Given the description of an element on the screen output the (x, y) to click on. 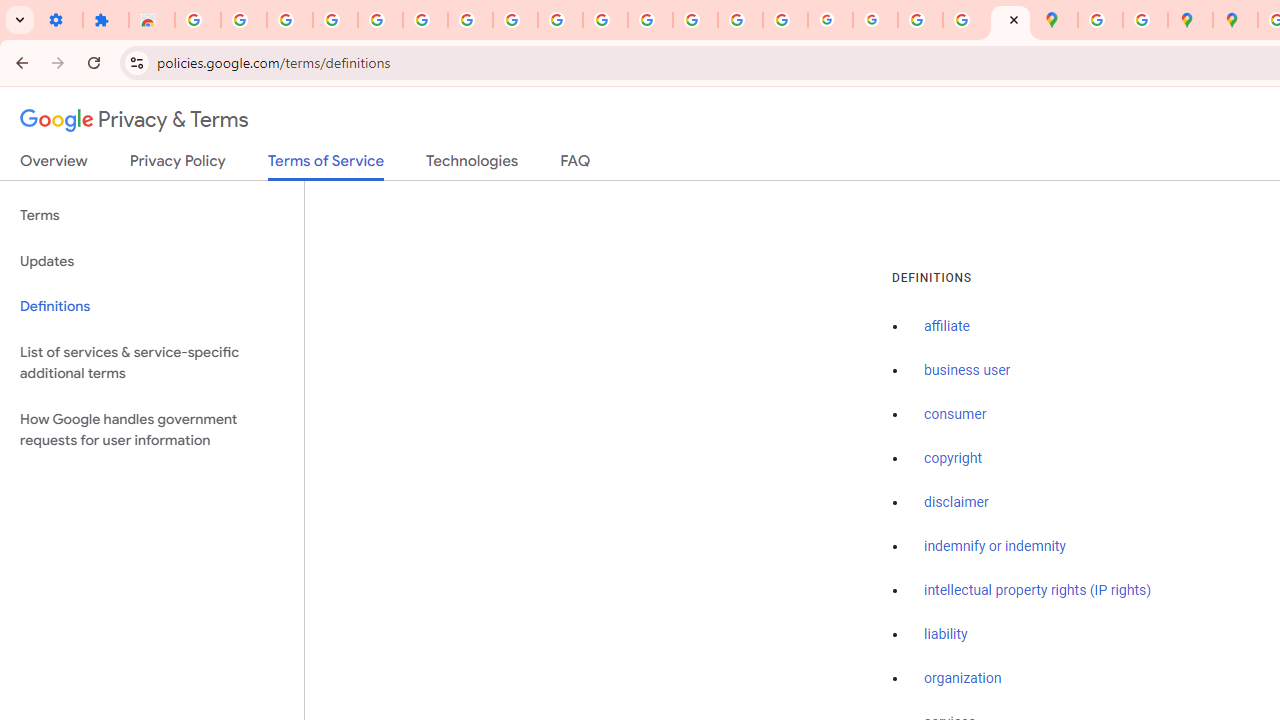
Google Account (514, 20)
business user (967, 371)
copyright (952, 459)
liability (945, 634)
YouTube (559, 20)
